Given the description of an element on the screen output the (x, y) to click on. 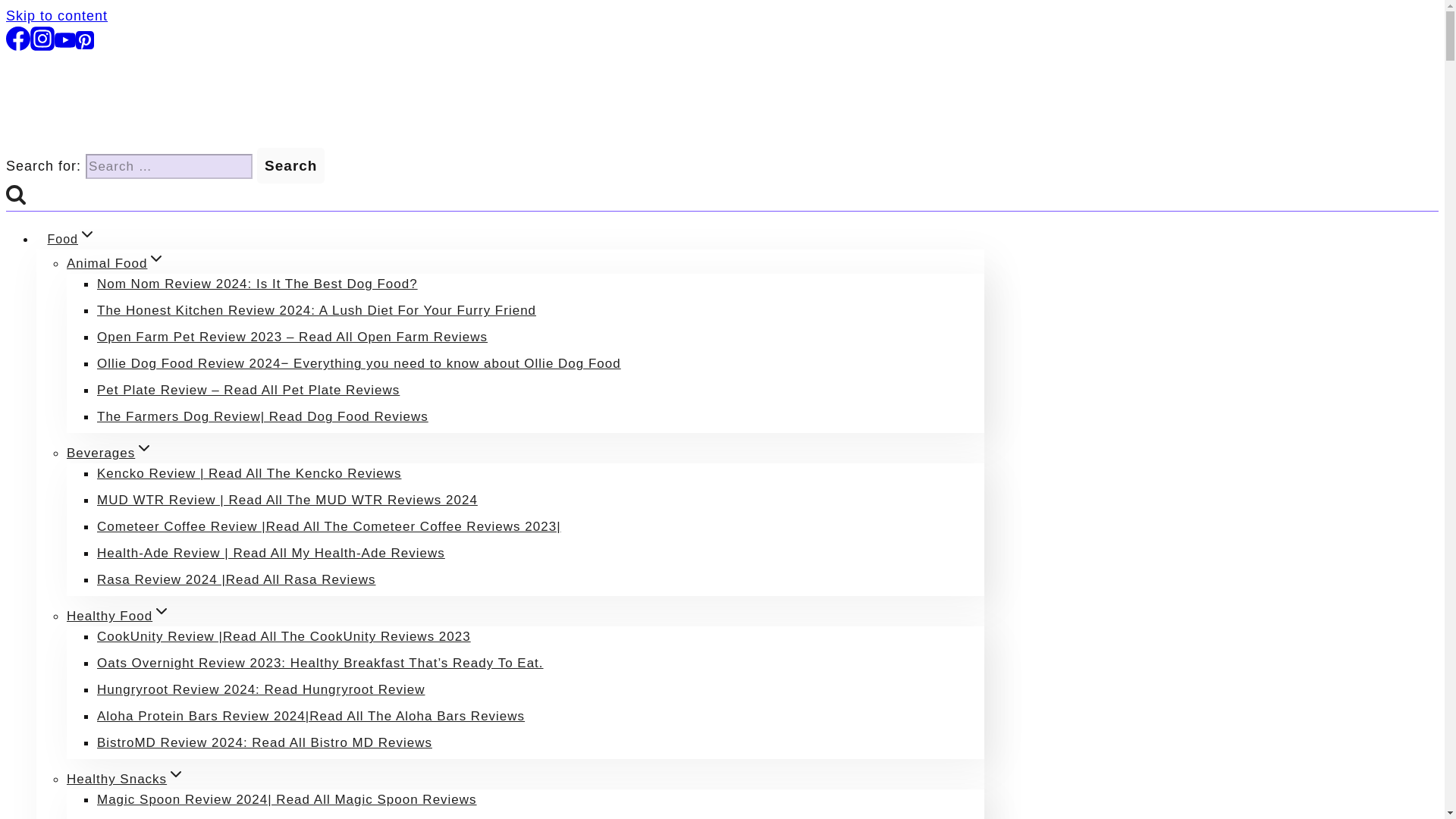
Skip to content (56, 15)
Expand (161, 610)
Facebook (17, 38)
Expand (87, 234)
FoodExpand (71, 239)
Instagram (42, 38)
BistroMD Review 2024: Read All Bistro MD Reviews (264, 742)
Search (290, 165)
Search (290, 165)
Healthy FoodExpand (118, 615)
Expand (143, 447)
Facebook (17, 46)
Expand (175, 773)
Skip to content (56, 15)
